Given the description of an element on the screen output the (x, y) to click on. 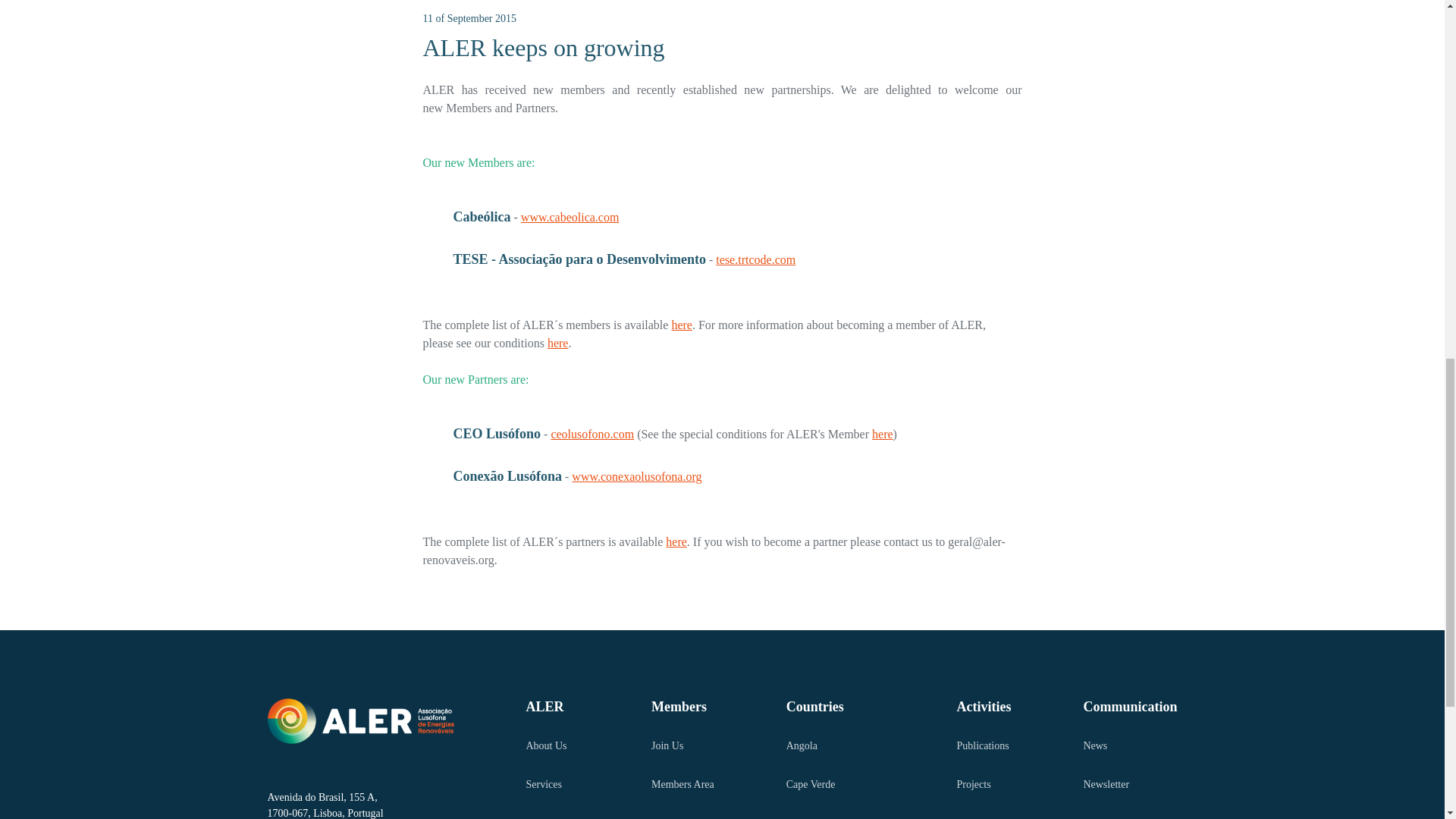
www.cabeolica.com (604, 225)
ceolusofono.com (591, 433)
here (882, 433)
here (682, 324)
here (558, 342)
tese.trtcode.com (755, 259)
www.conexaolusofona.org (636, 476)
